Given the description of an element on the screen output the (x, y) to click on. 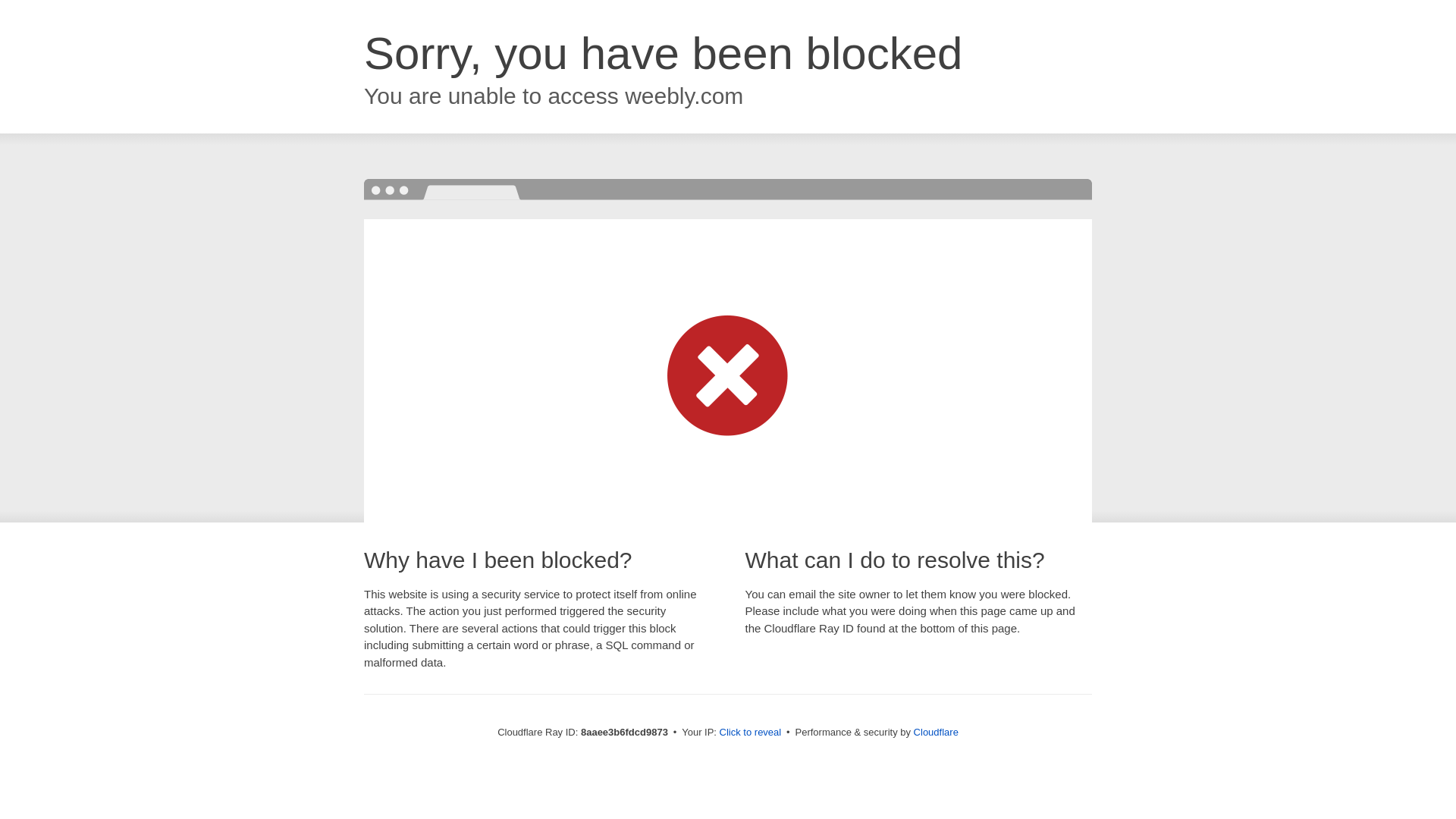
Cloudflare (936, 731)
Click to reveal (750, 732)
